Given the description of an element on the screen output the (x, y) to click on. 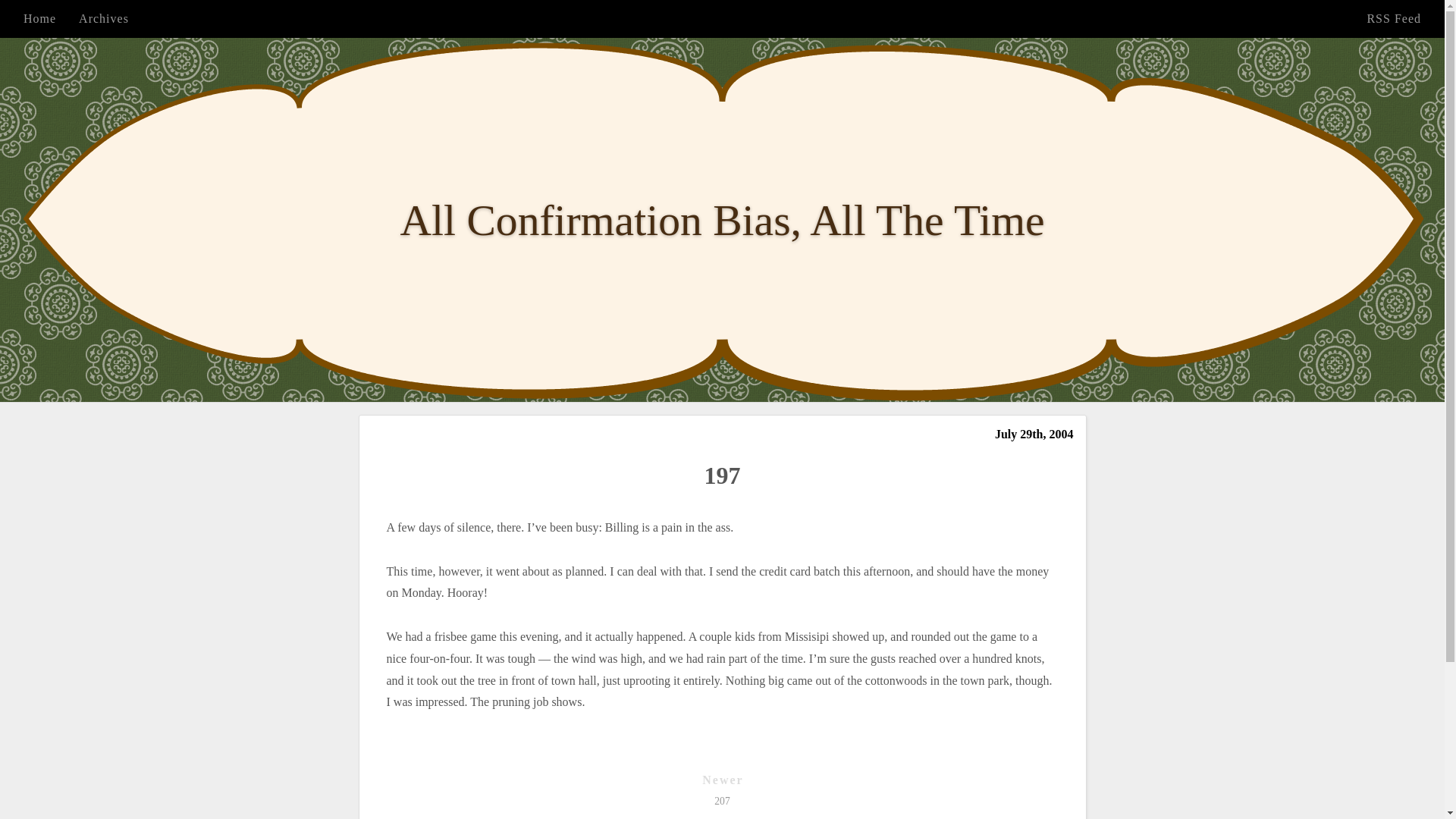
Home (38, 18)
RSS Feed (1393, 18)
Archives (102, 18)
All Confirmation Bias, All The Time (720, 219)
July 29th, 2004 (1034, 433)
